Given the description of an element on the screen output the (x, y) to click on. 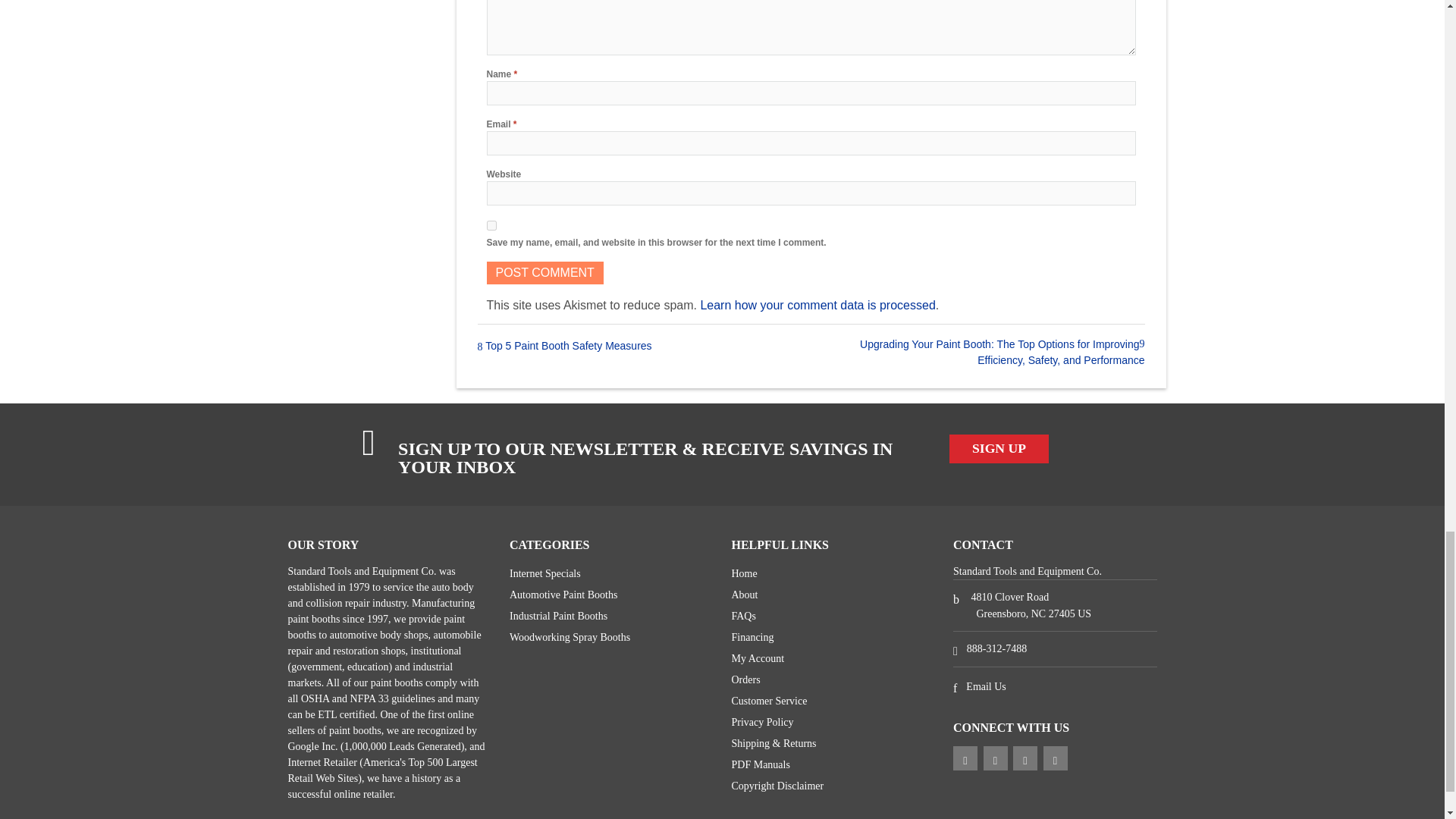
yes (491, 225)
Post Comment (545, 272)
